Given the description of an element on the screen output the (x, y) to click on. 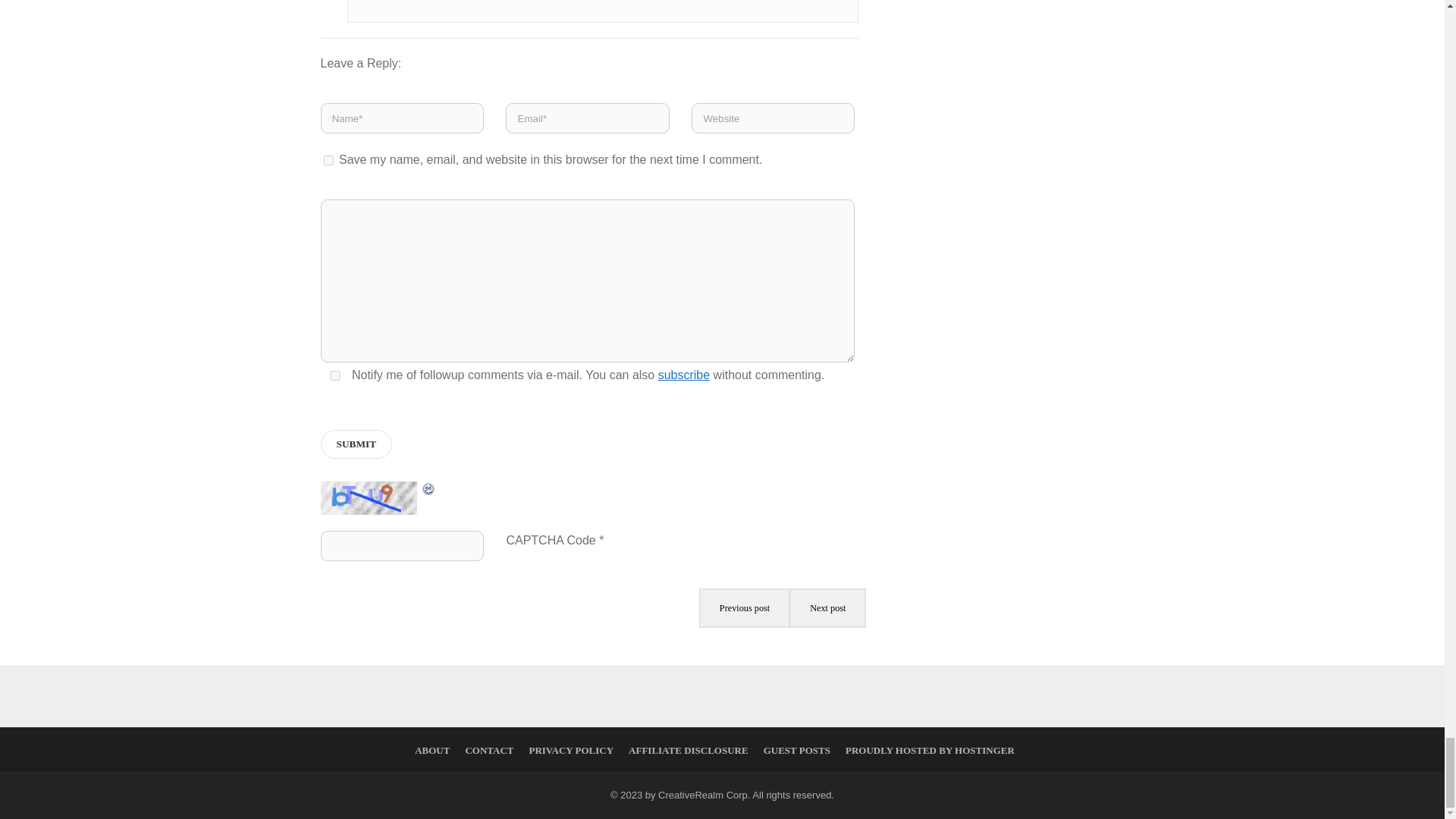
yes (328, 160)
SUBMIT (355, 443)
yes (334, 375)
CAPTCHA (370, 497)
Refresh (428, 489)
